Given the description of an element on the screen output the (x, y) to click on. 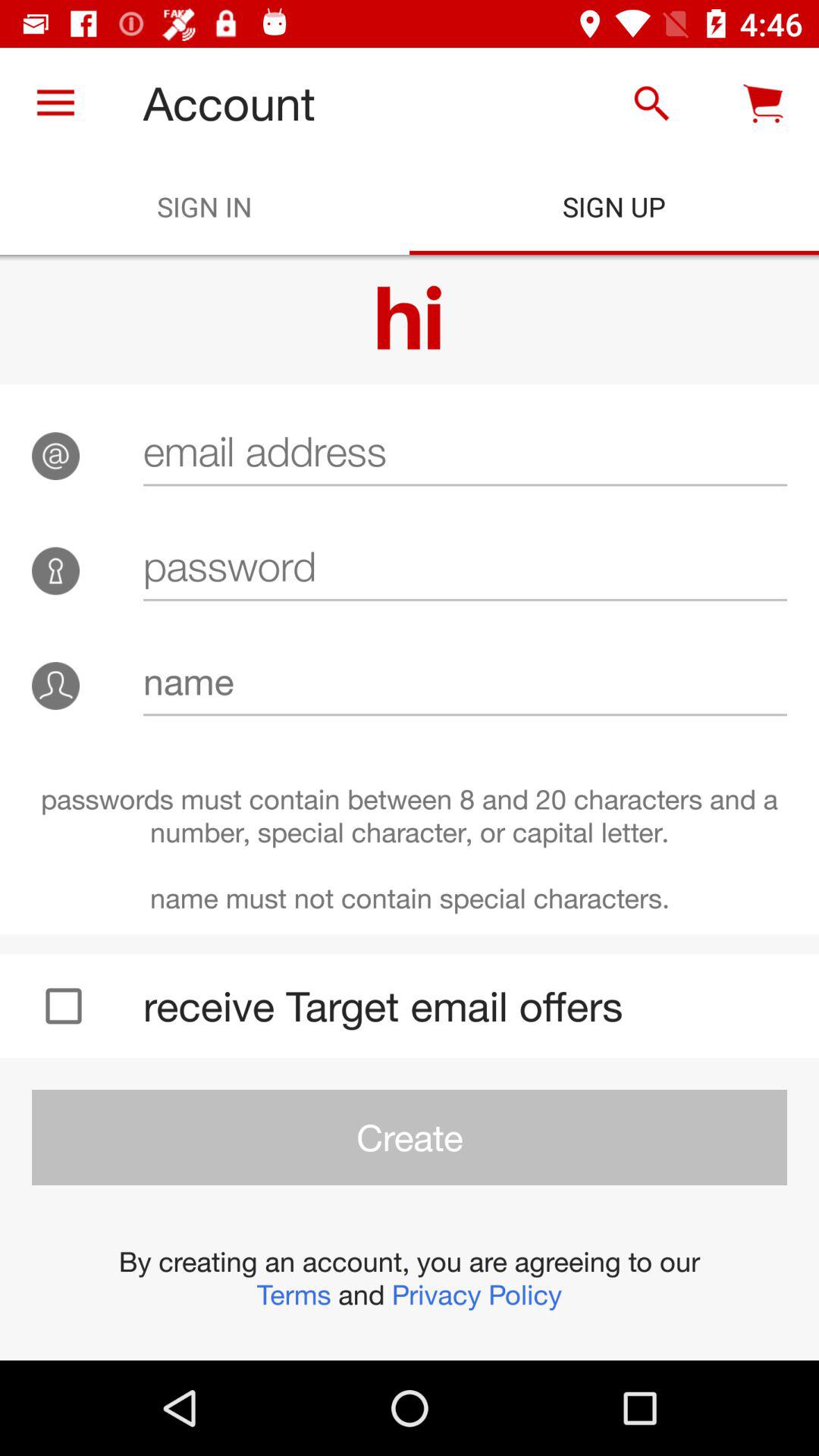
turn on icon next to account icon (651, 103)
